Given the description of an element on the screen output the (x, y) to click on. 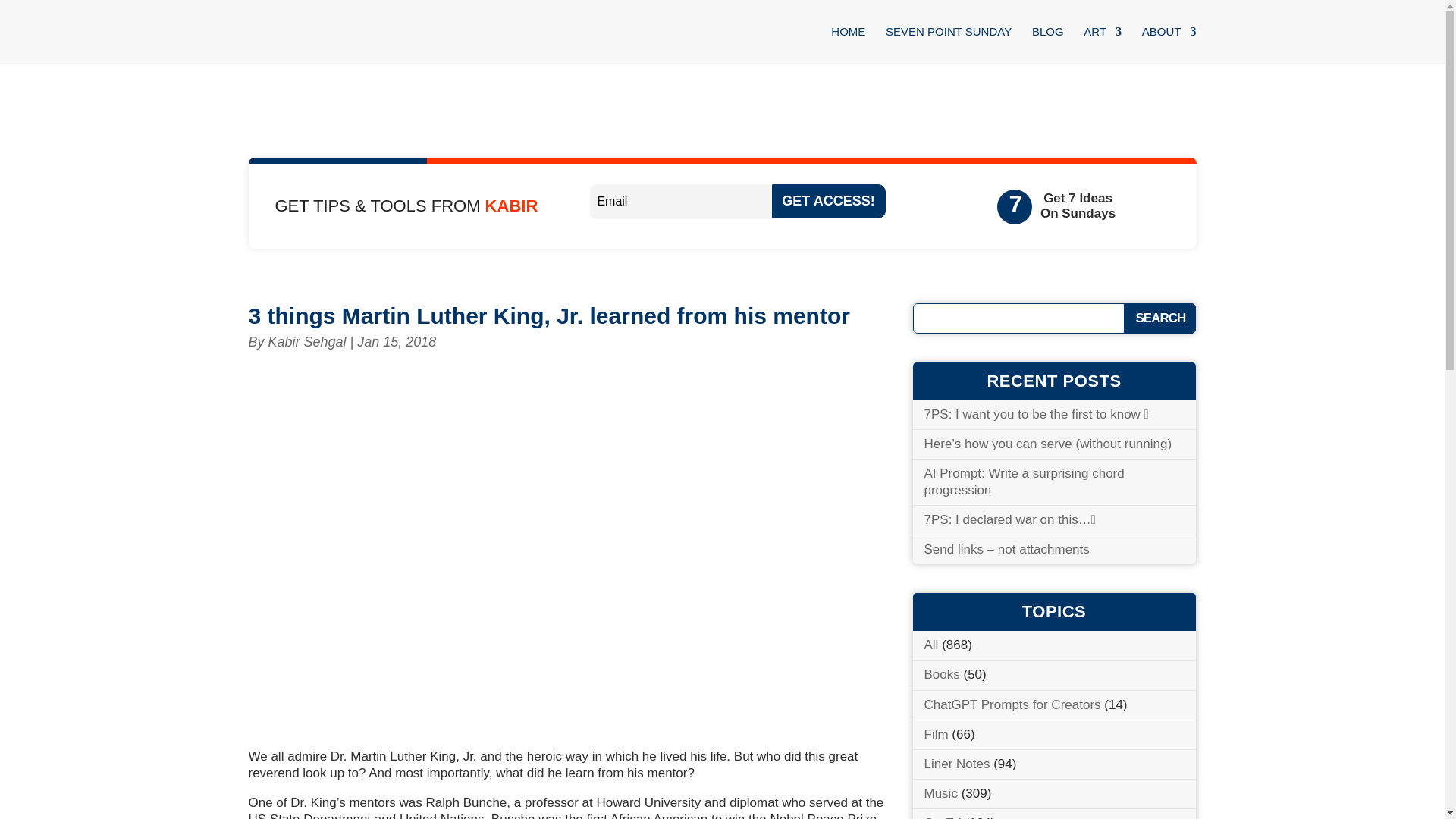
Film (935, 734)
Liner Notes (956, 763)
All (930, 644)
Search (1159, 318)
Posts by Kabir Sehgal (306, 341)
GET ACCESS! (828, 201)
ABOUT (1168, 44)
Op-Ed (941, 817)
ART (1102, 44)
